Given the description of an element on the screen output the (x, y) to click on. 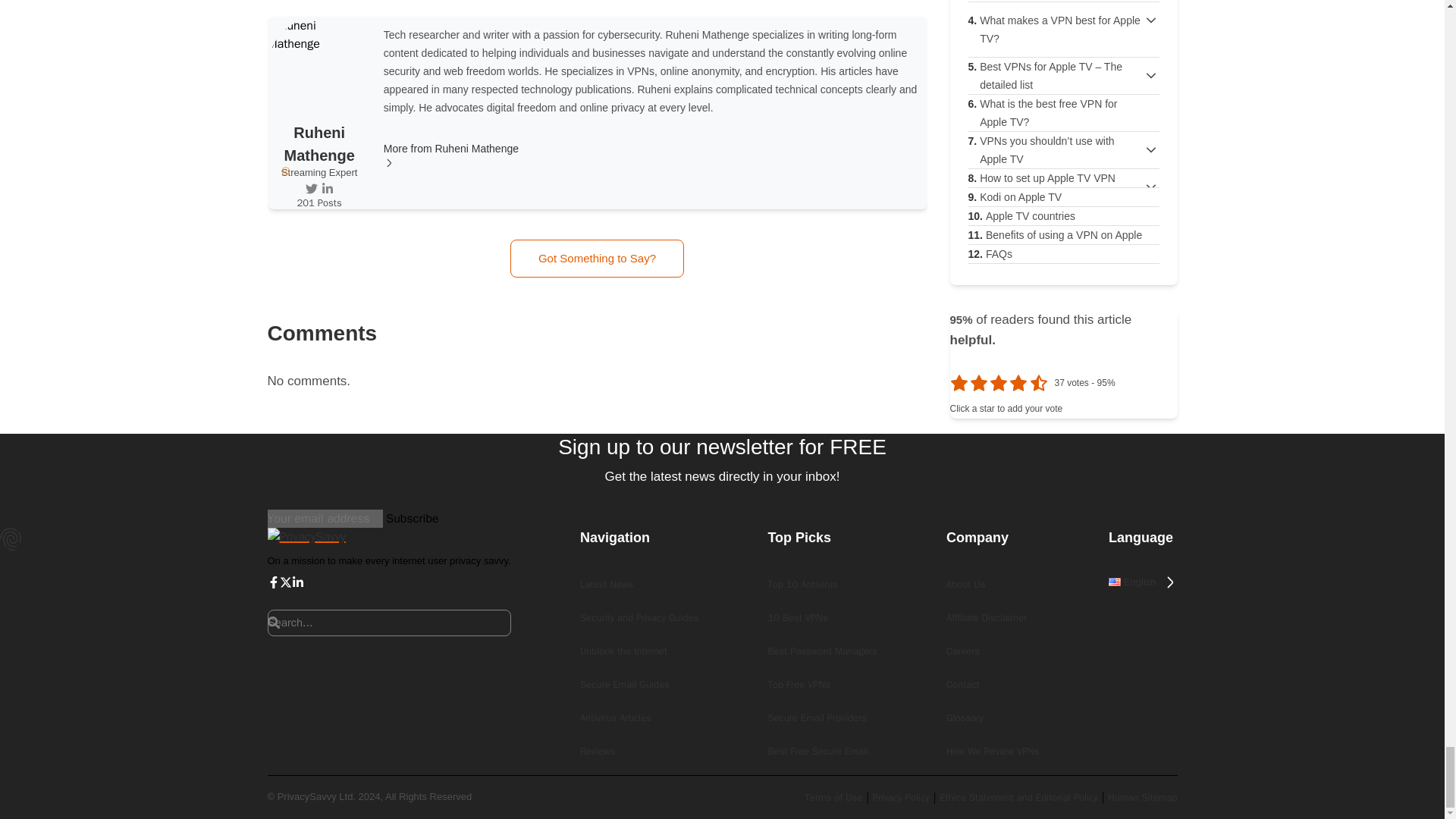
Subscribe (411, 518)
